Given the description of an element on the screen output the (x, y) to click on. 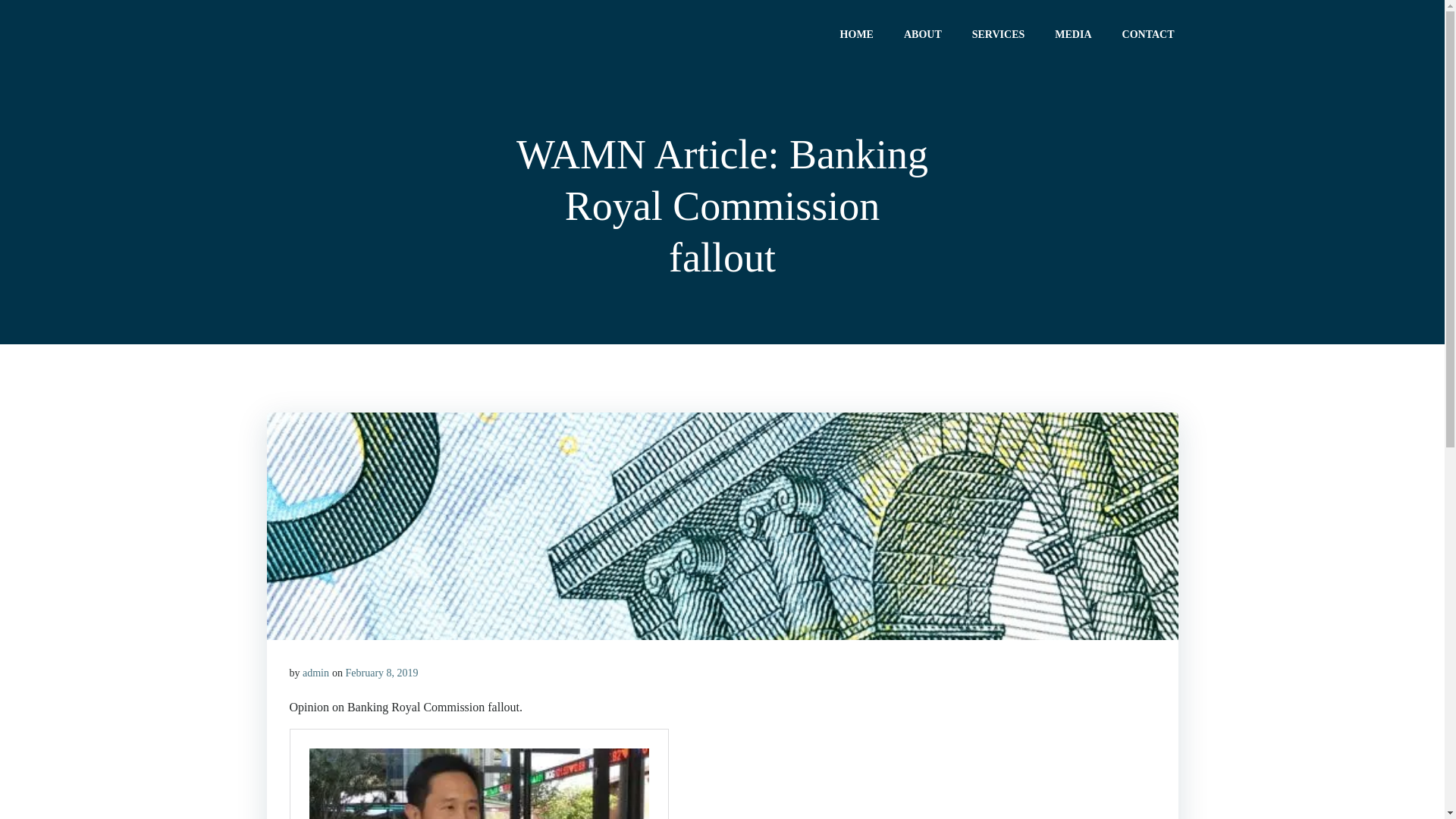
CONTACT Element type: text (1148, 33)
HOME Element type: text (856, 33)
ABOUT Element type: text (922, 33)
MEDIA Element type: text (1072, 33)
SERVICES Element type: text (998, 33)
admin Element type: text (315, 672)
February 8, 2019 Element type: text (381, 672)
